Given the description of an element on the screen output the (x, y) to click on. 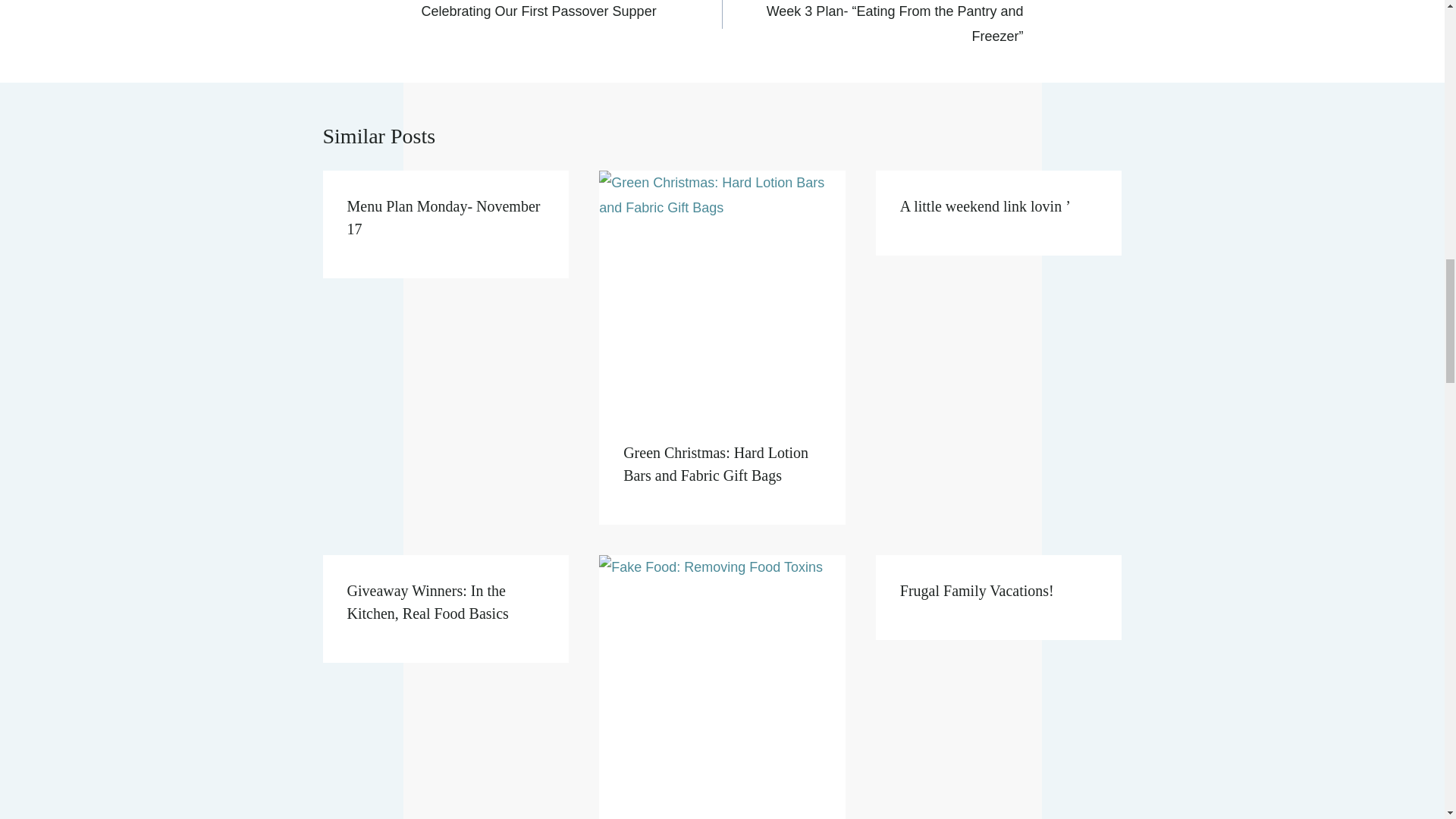
Giveaway Winners: In the Kitchen, Real Food Basics (427, 601)
Menu Plan Monday- November 17 (572, 12)
Green Christmas: Hard Lotion Bars and Fabric Gift Bags (443, 217)
